Given the description of an element on the screen output the (x, y) to click on. 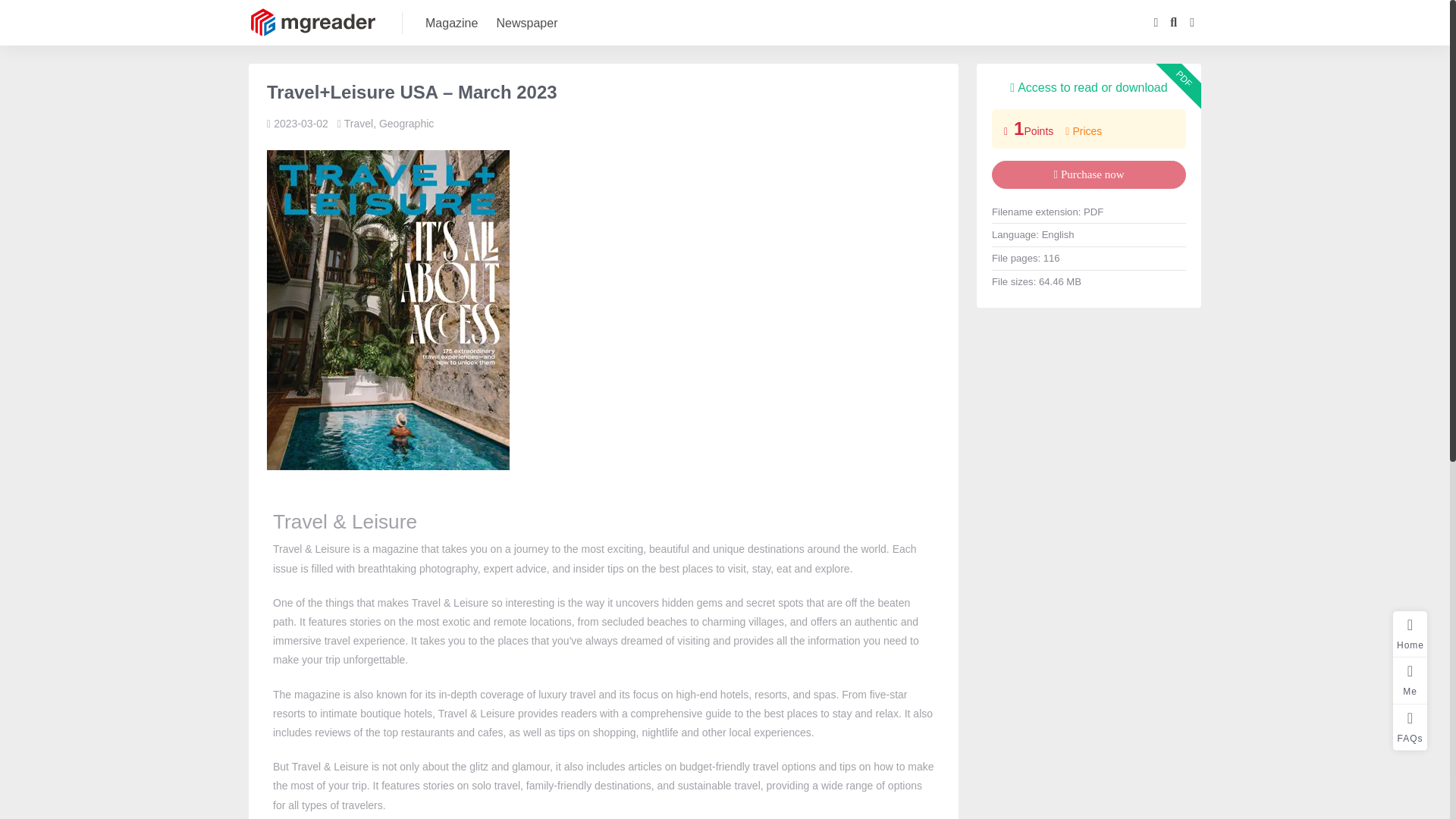
Magazine (451, 22)
Travel, Geographic (388, 123)
Newspaper (526, 22)
Purchase now (1088, 174)
Prices (1083, 131)
